Given the description of an element on the screen output the (x, y) to click on. 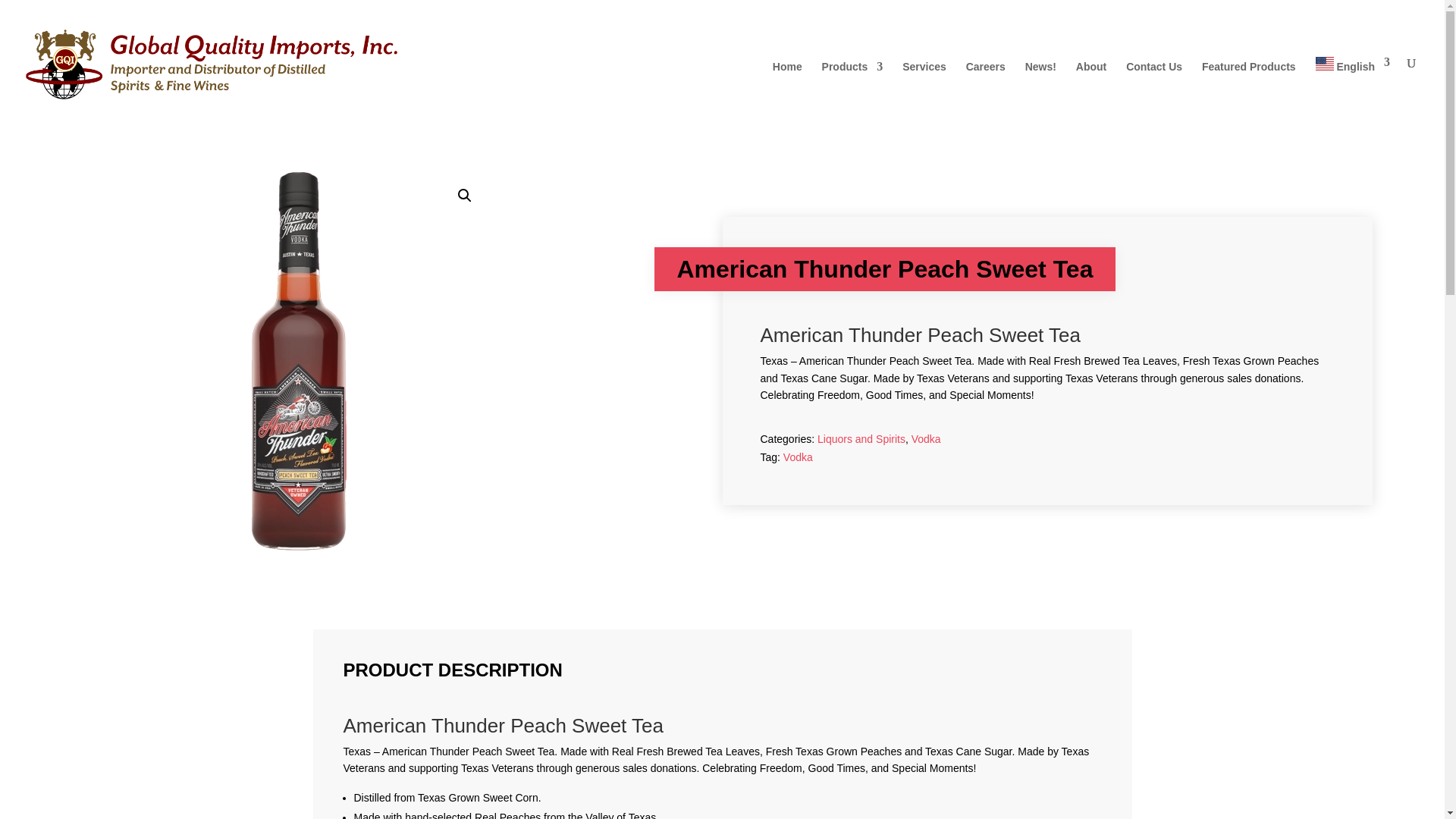
Featured Products (1248, 94)
Products (852, 94)
English (1353, 92)
